Given the description of an element on the screen output the (x, y) to click on. 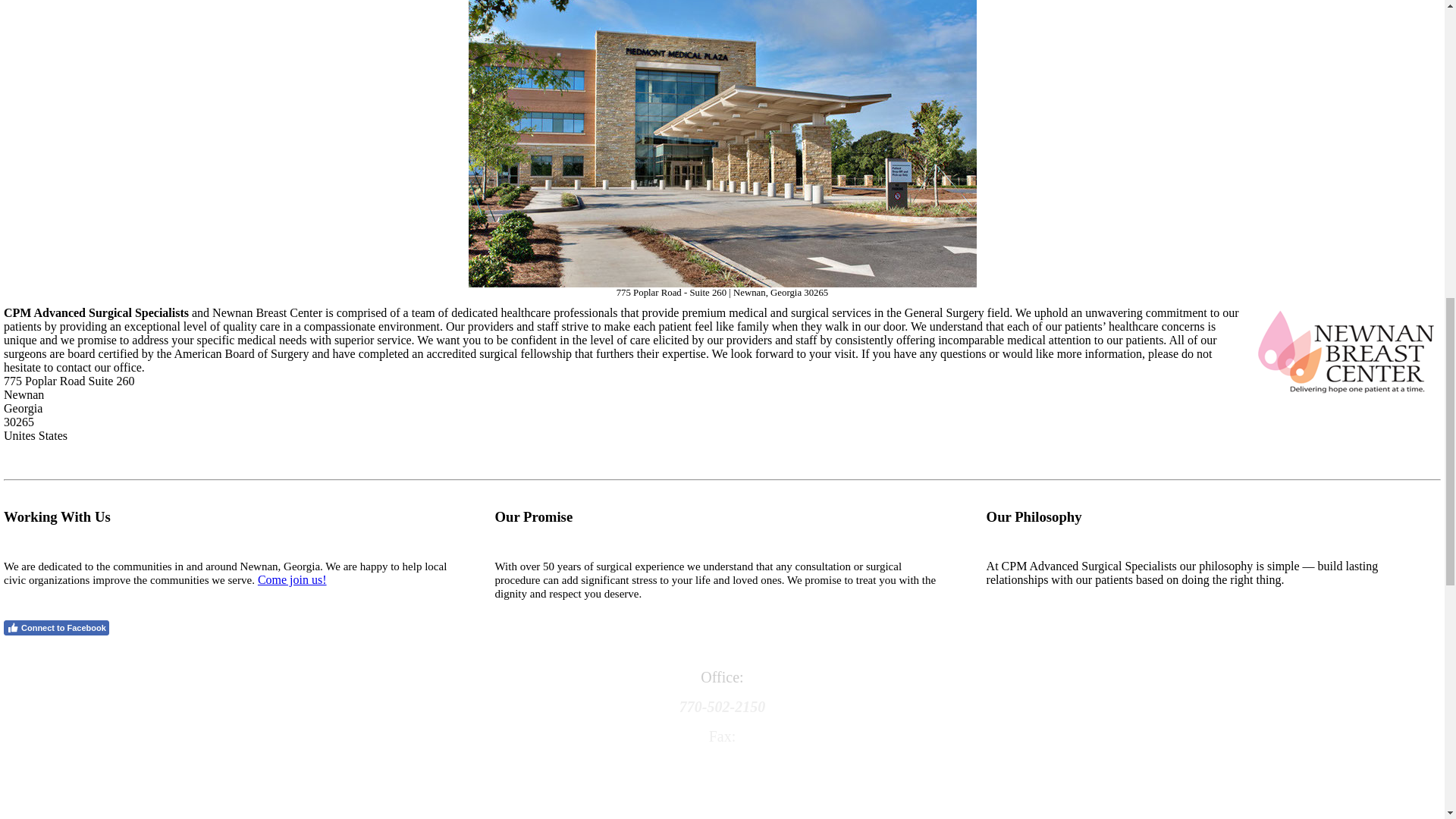
Community Involvement (291, 579)
